Given the description of an element on the screen output the (x, y) to click on. 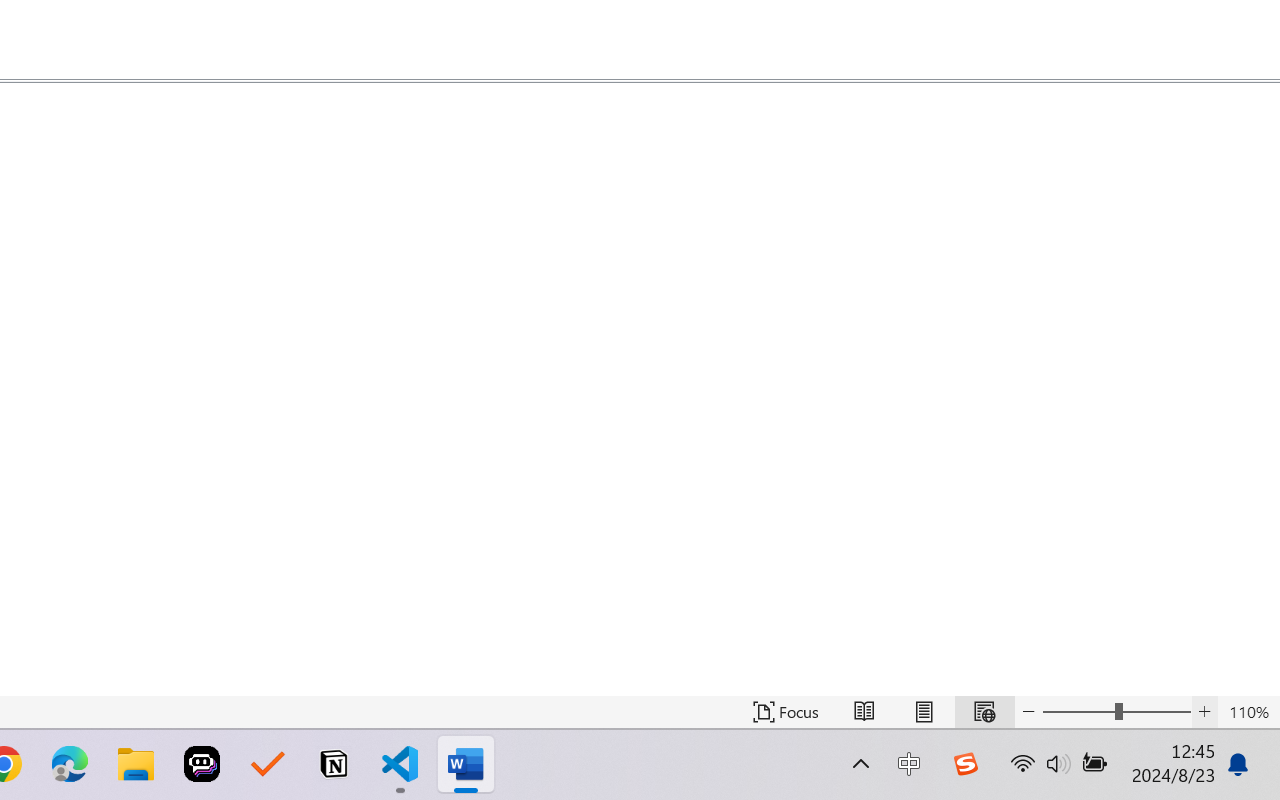
Zoom 110% (1249, 712)
